Given the description of an element on the screen output the (x, y) to click on. 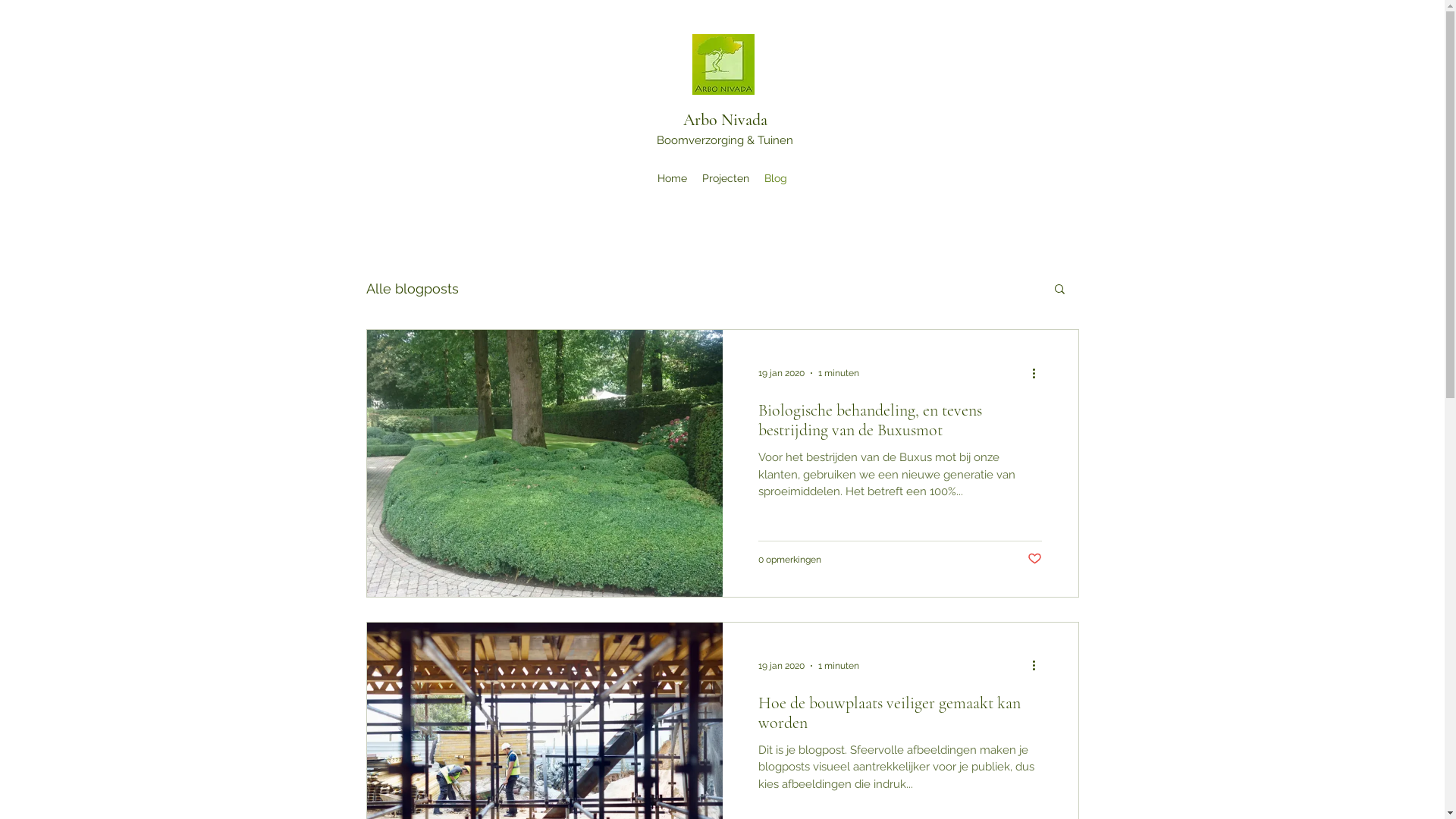
Post is niet als leuk gemarkeerd Element type: text (1034, 559)
Alle blogposts Element type: text (411, 288)
Hoe de bouwplaats veiliger gemaakt kan worden Element type: text (899, 716)
Projecten Element type: text (725, 177)
0 opmerkingen Element type: text (789, 559)
Home Element type: text (671, 177)
Arbo Nivada Element type: text (725, 119)
Blog Element type: text (775, 177)
